Given the description of an element on the screen output the (x, y) to click on. 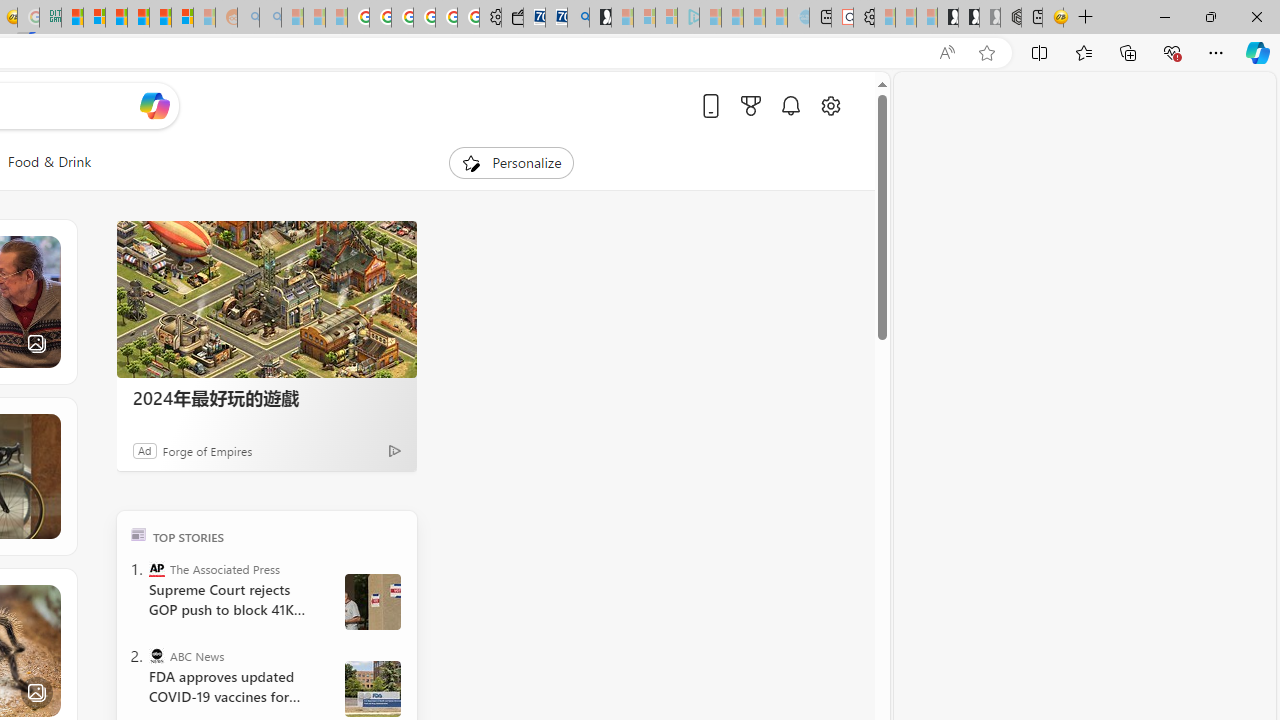
Wallet (512, 17)
ABC News (156, 655)
